Given the description of an element on the screen output the (x, y) to click on. 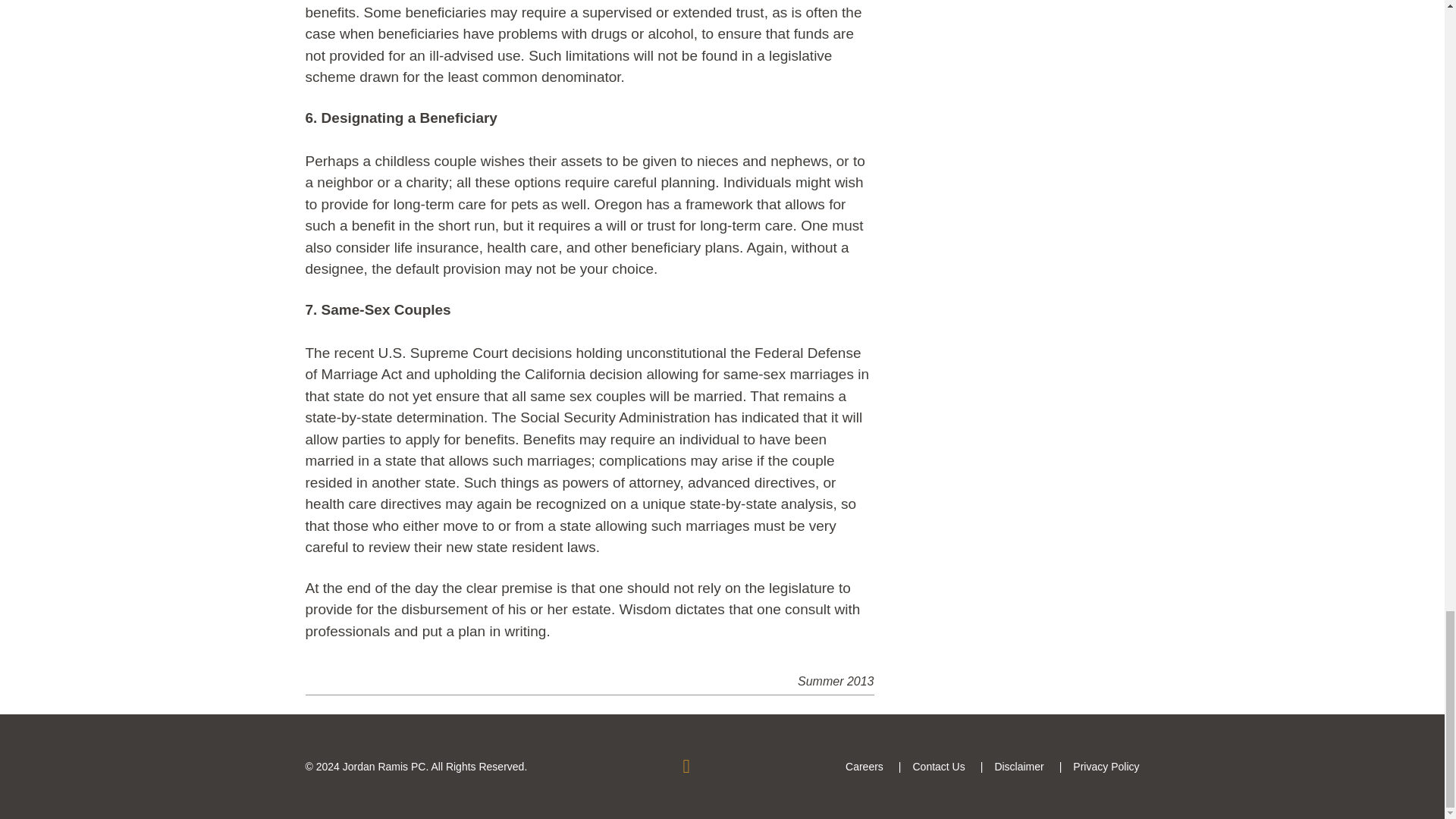
Privacy Policy (1105, 766)
Contact Us (937, 766)
Careers (864, 766)
Disclaimer (1018, 766)
